Given the description of an element on the screen output the (x, y) to click on. 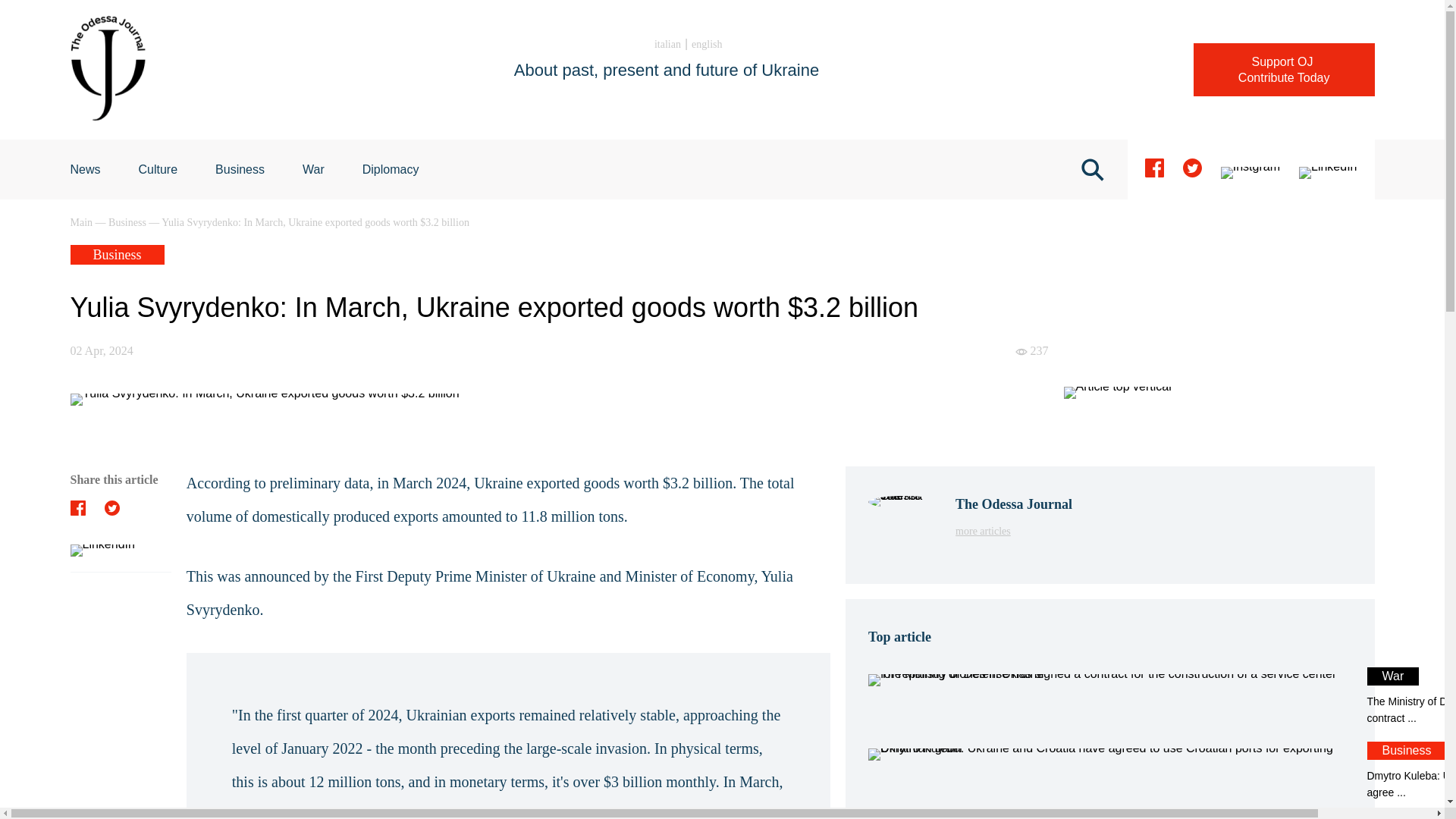
News (84, 169)
Main (1283, 69)
Culture (81, 222)
more articles (1109, 771)
Culture (157, 169)
Diplomacy (1013, 530)
Business (157, 169)
